Given the description of an element on the screen output the (x, y) to click on. 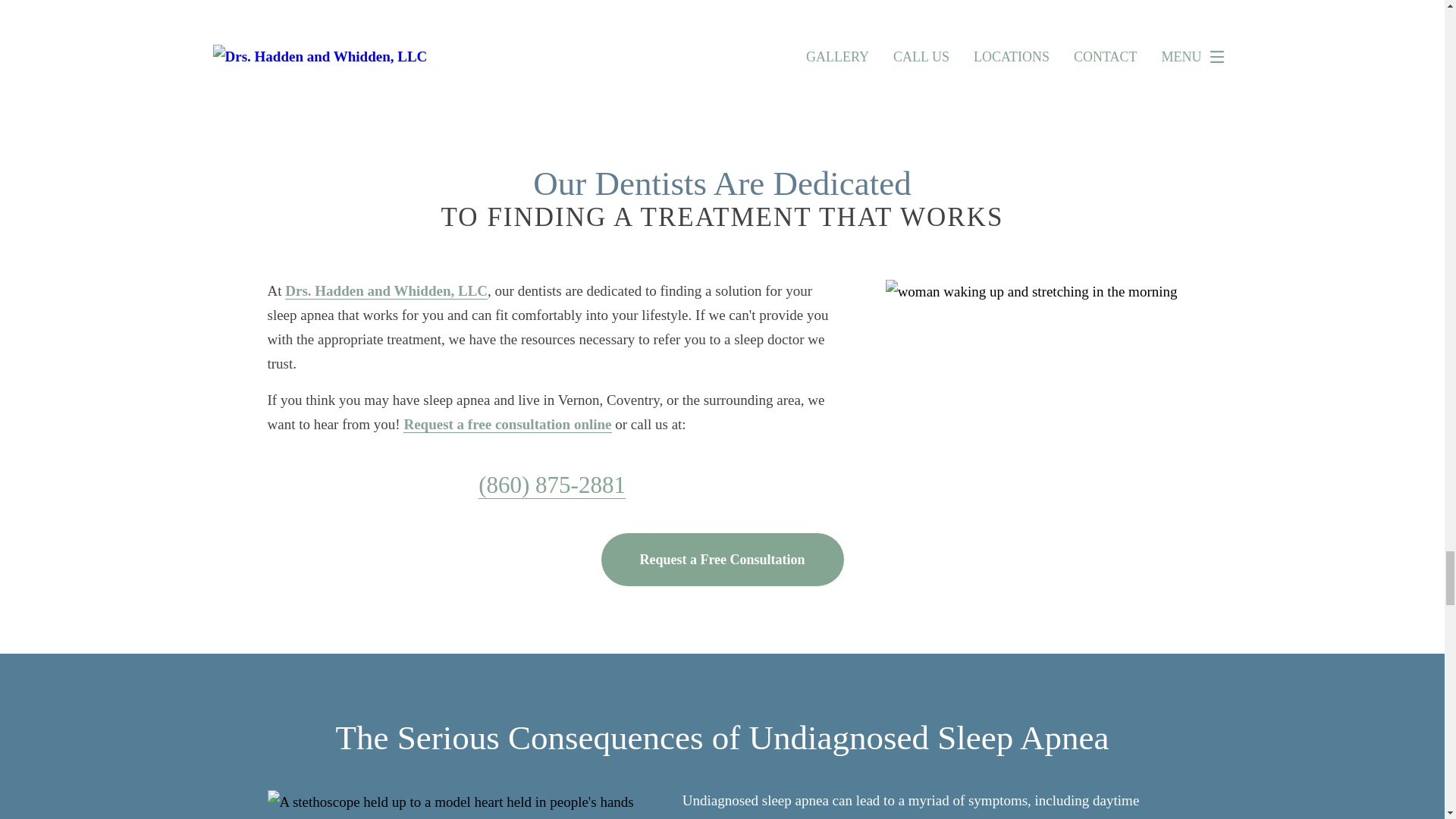
Drs. Hadden and Whidden, LLC (386, 290)
Request a Free Consultation (721, 559)
Request a free consultation online (507, 424)
